Given the description of an element on the screen output the (x, y) to click on. 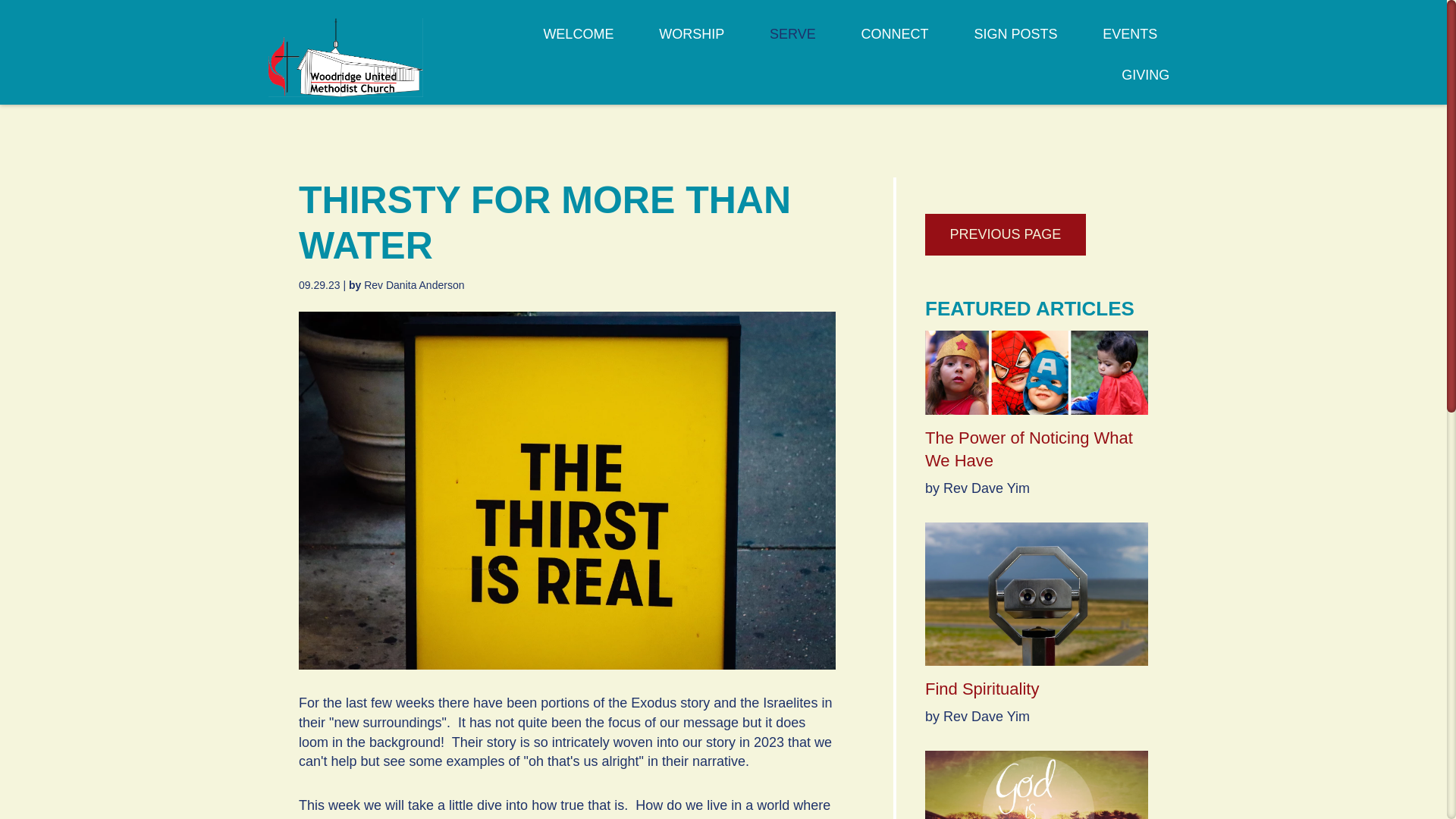
GIVING (1145, 83)
WELCOME (578, 42)
SERVE (792, 42)
WORSHIP (691, 42)
SIGN POSTS (1015, 42)
EVENTS (1130, 42)
CONNECT (894, 42)
